Given the description of an element on the screen output the (x, y) to click on. 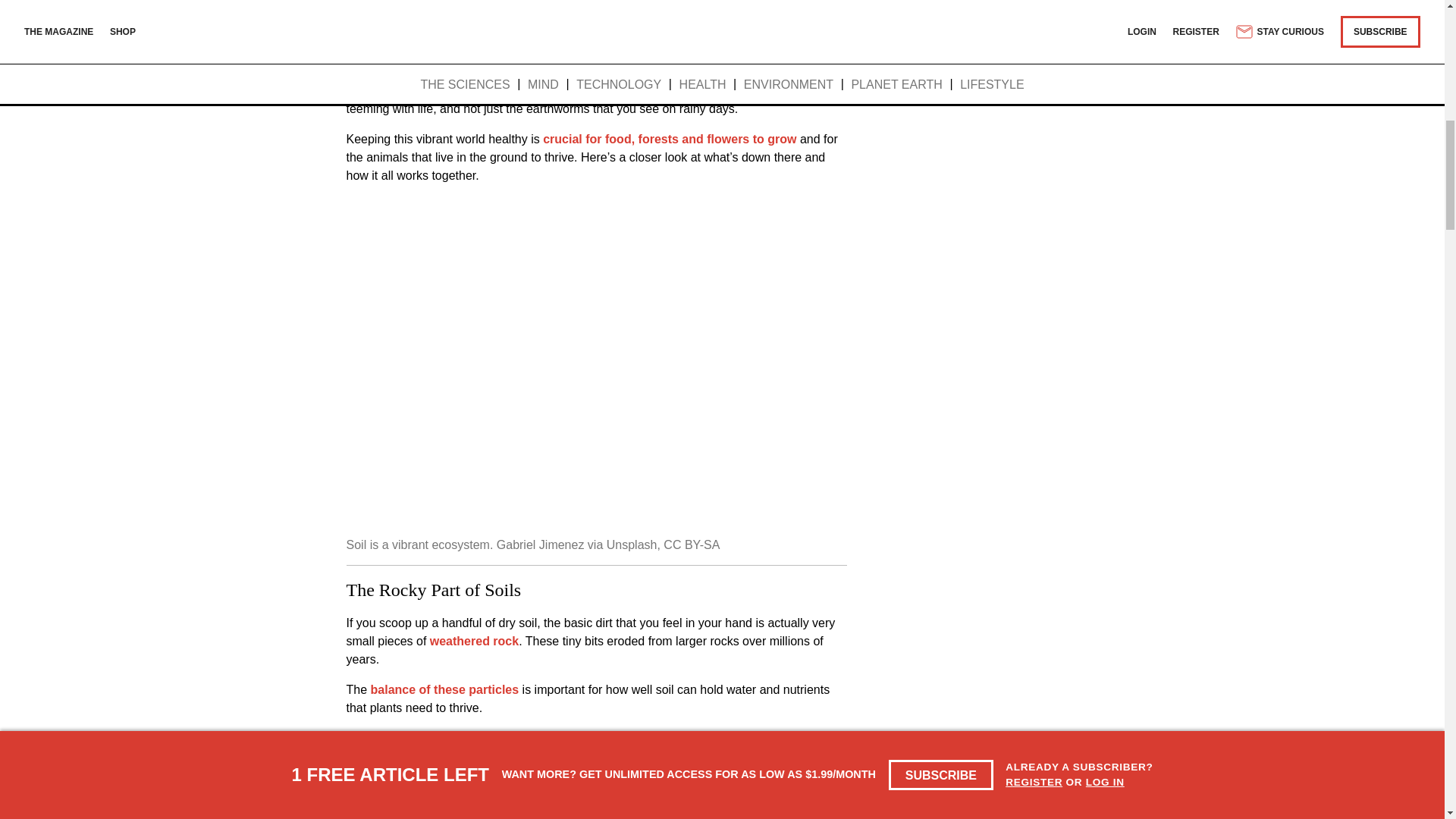
sandy soil (449, 738)
I began studying soil (441, 90)
balance of these particles (445, 689)
Soil with mostly clay (568, 756)
crucial for food, forests and flowers to grow (669, 138)
weathered rock (473, 640)
silt, a mix of rock dust and minerals (581, 783)
